Given the description of an element on the screen output the (x, y) to click on. 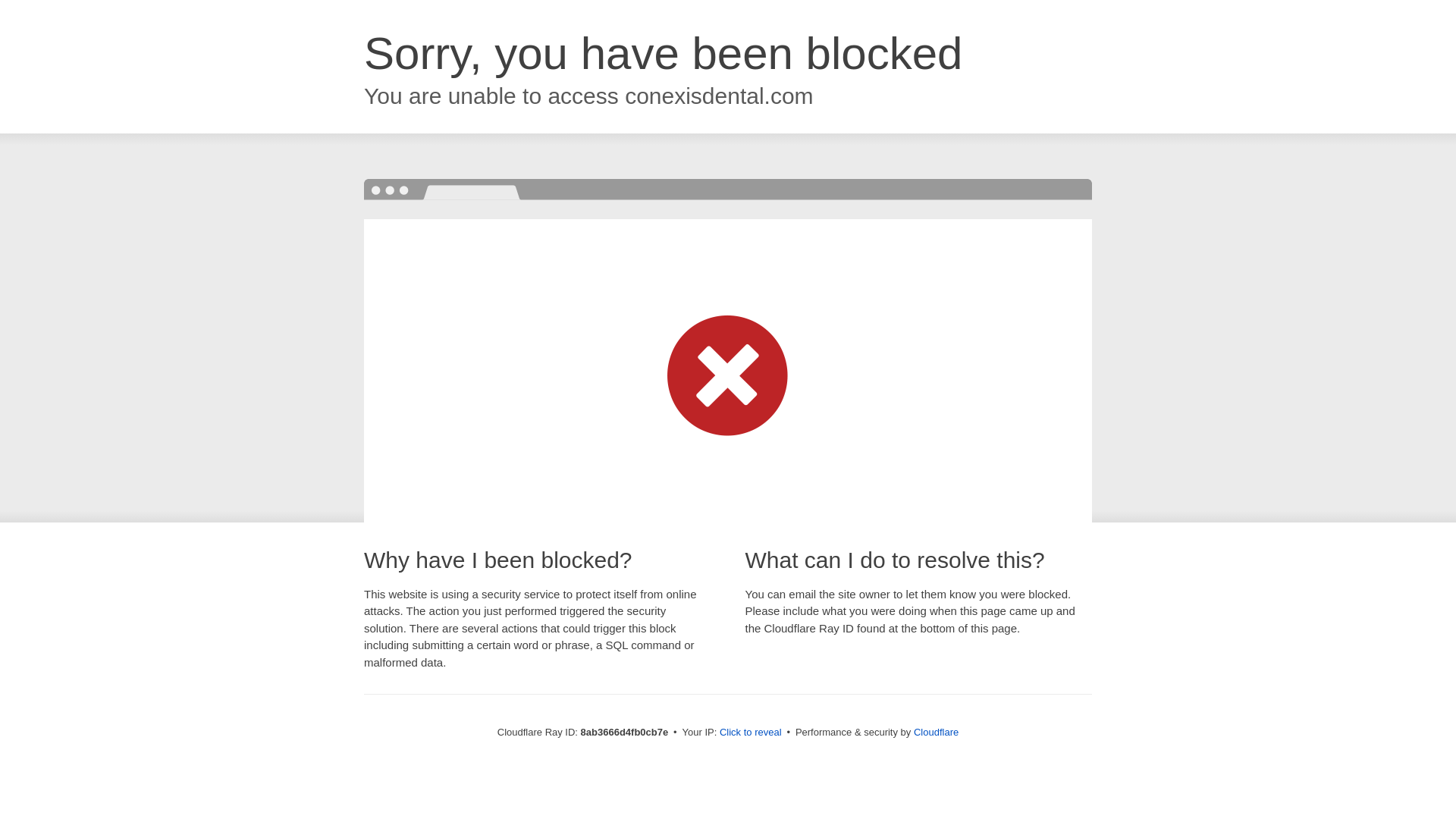
Cloudflare (936, 731)
Click to reveal (750, 732)
